Given the description of an element on the screen output the (x, y) to click on. 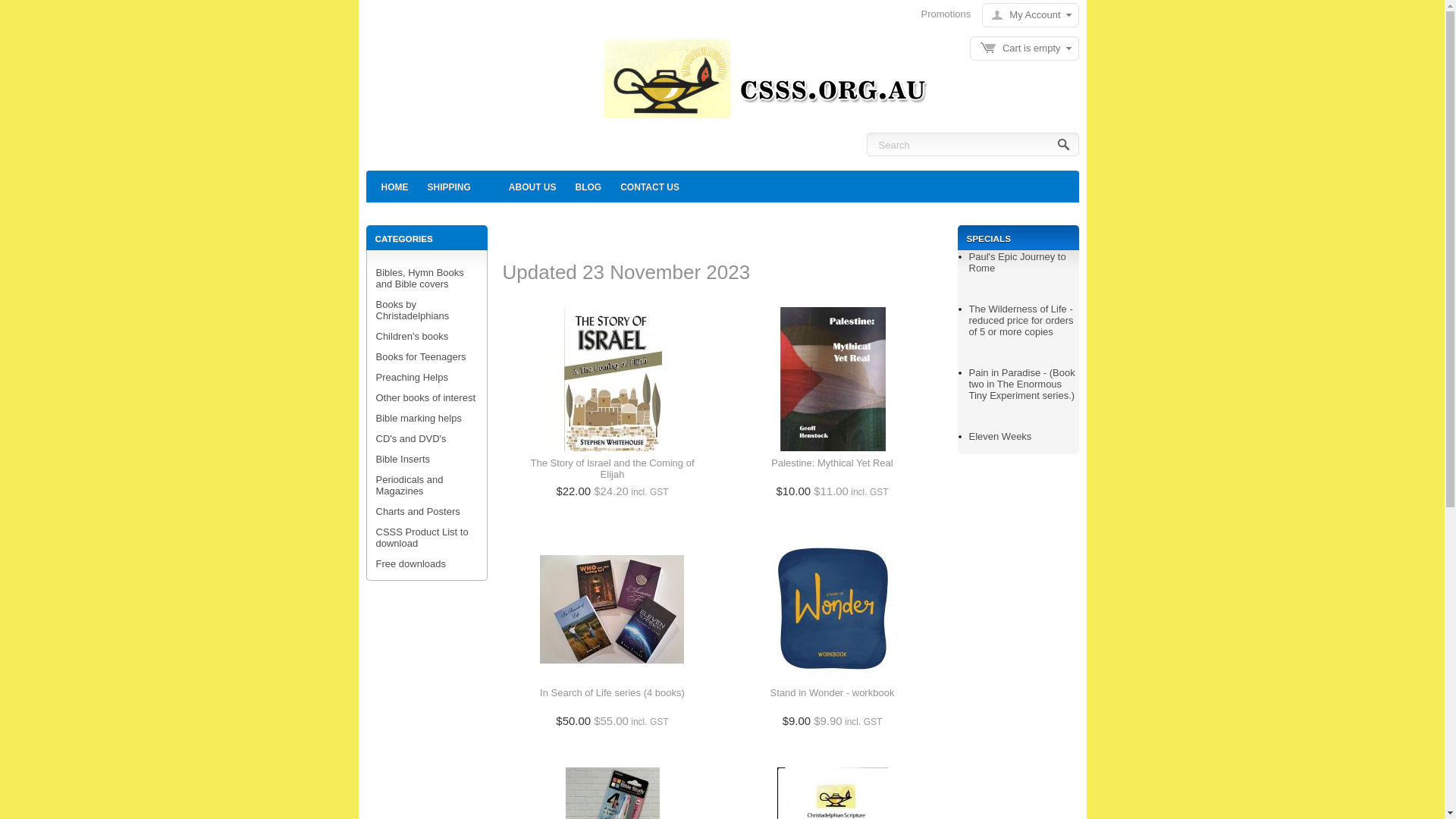
Bible Inserts Element type: text (403, 458)
CD's and DVD's Element type: text (411, 438)
Books by Christadelphians Element type: text (412, 309)
ABOUT US Element type: text (532, 186)
Children's books Element type: text (412, 336)
Bible marking helps Element type: text (418, 417)
SHIPPING Element type: text (449, 186)
Paul's Epic Journey to Rome Element type: text (1017, 262)
CSSS Element type: hover (760, 82)
BLOG Element type: text (588, 186)
Periodicals and Magazines Element type: text (409, 484)
In Search of Life series (4 books) Element type: text (611, 698)
Other books of interest Element type: text (426, 397)
Charts and Posters Element type: text (418, 511)
CONTACT US Element type: text (649, 186)
The Story of Israel and the Coming of Elijah Element type: text (612, 468)
Free downloads Element type: text (411, 563)
CSSS Product List to download Element type: text (422, 537)
HOME Element type: text (394, 186)
Palestine: Mythical Yet Real Element type: text (831, 468)
Stand in Wonder - workbook Element type: text (832, 698)
Books for Teenagers Element type: text (421, 356)
Preaching Helps Element type: text (412, 376)
Eleven Weeks Element type: text (1000, 436)
Search Element type: hover (1064, 145)
Promotions Element type: text (946, 13)
Search Element type: hover (972, 144)
Cart is empty Element type: text (1024, 48)
My Account Element type: text (1025, 15)
Bibles, Hymn Books and Bible covers Element type: text (420, 277)
